Given the description of an element on the screen output the (x, y) to click on. 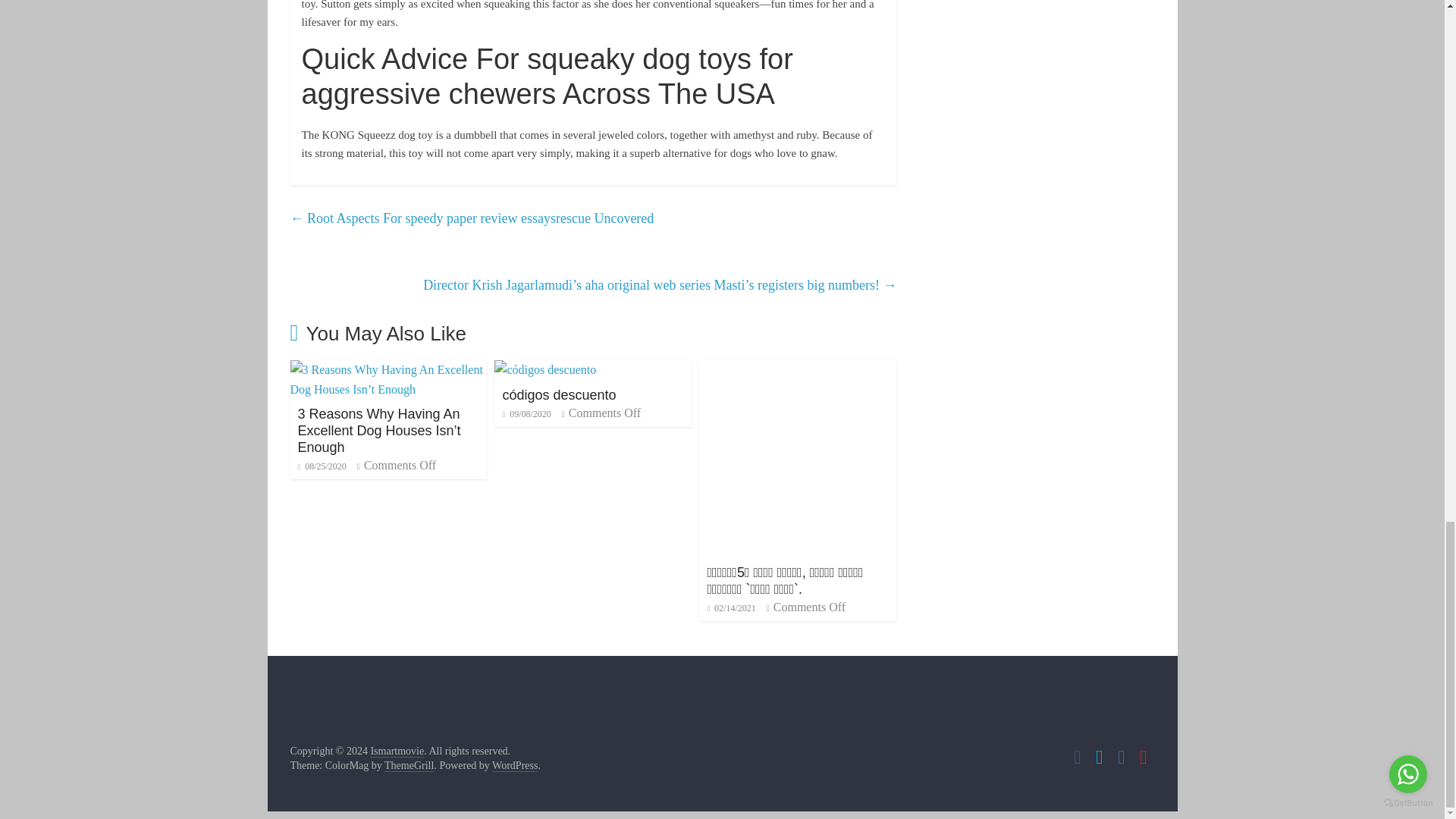
6:39 pm (321, 466)
1:02 pm (526, 413)
